Given the description of an element on the screen output the (x, y) to click on. 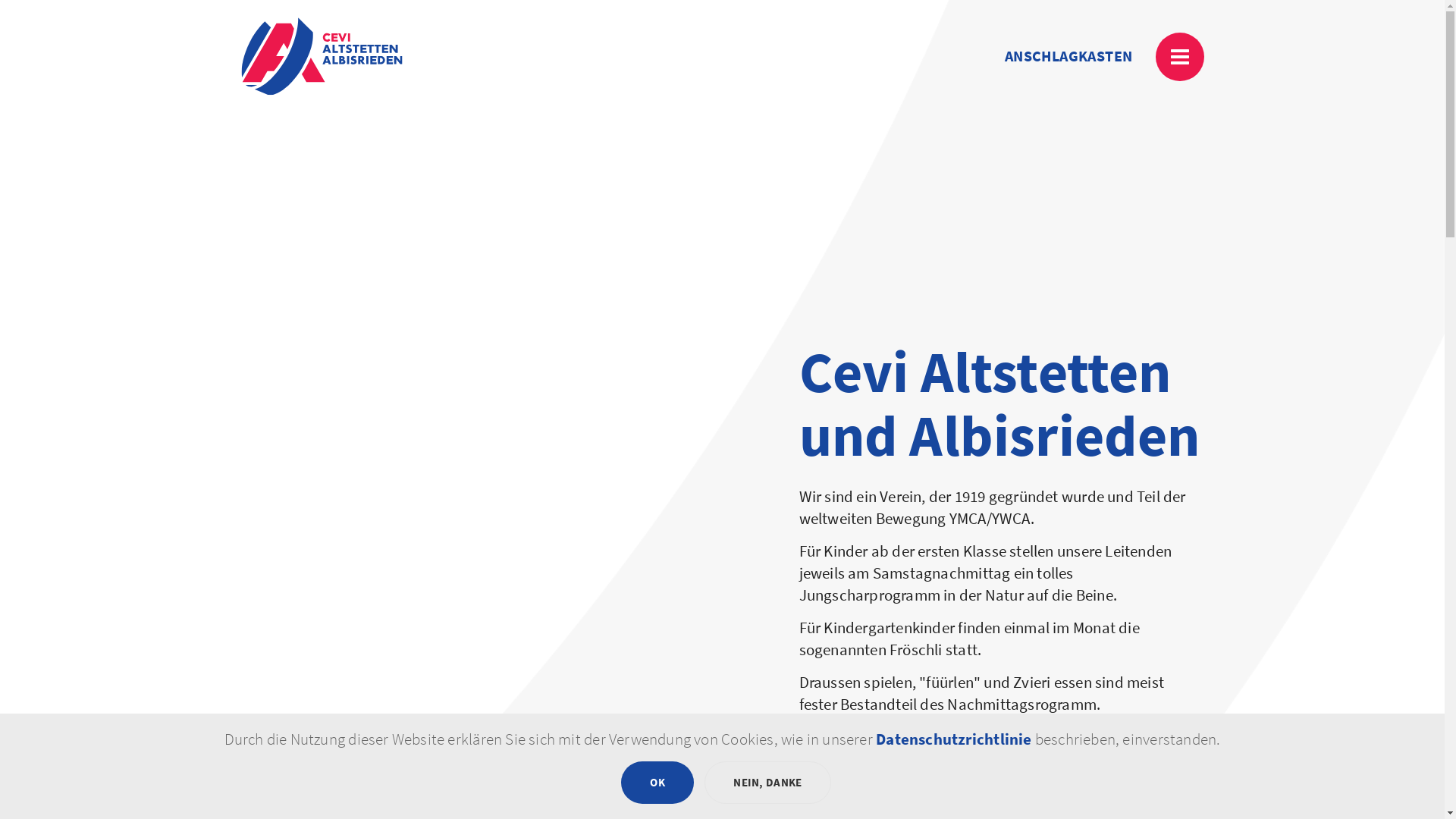
ZUM ANSCHLAGKASTEN Element type: text (899, 749)
Datenschutzrichtlinie Element type: text (955, 738)
NEIN, DANKE Element type: text (767, 782)
UNSER VEREIN Element type: text (869, 779)
OK Element type: text (657, 782)
ANSCHLAGKASTEN Element type: text (1068, 55)
